Given the description of an element on the screen output the (x, y) to click on. 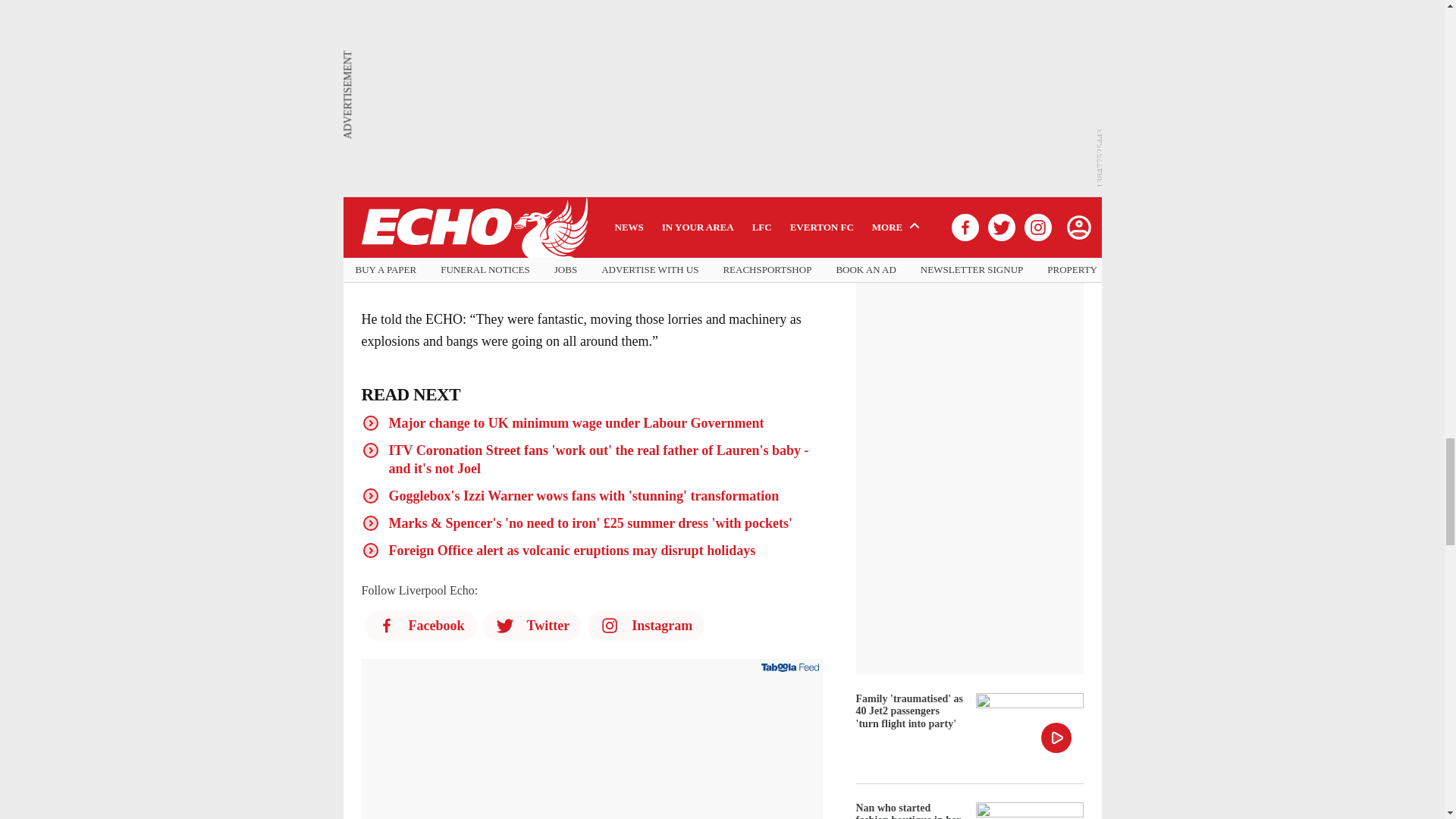
Read Next Article Icon (369, 523)
Write Better and Faster With This Desktop App (591, 751)
Read Next Article Icon (369, 495)
Read Next Article Icon (369, 450)
Read Next Article Icon (369, 550)
Read Next Article Icon (369, 423)
